Given the description of an element on the screen output the (x, y) to click on. 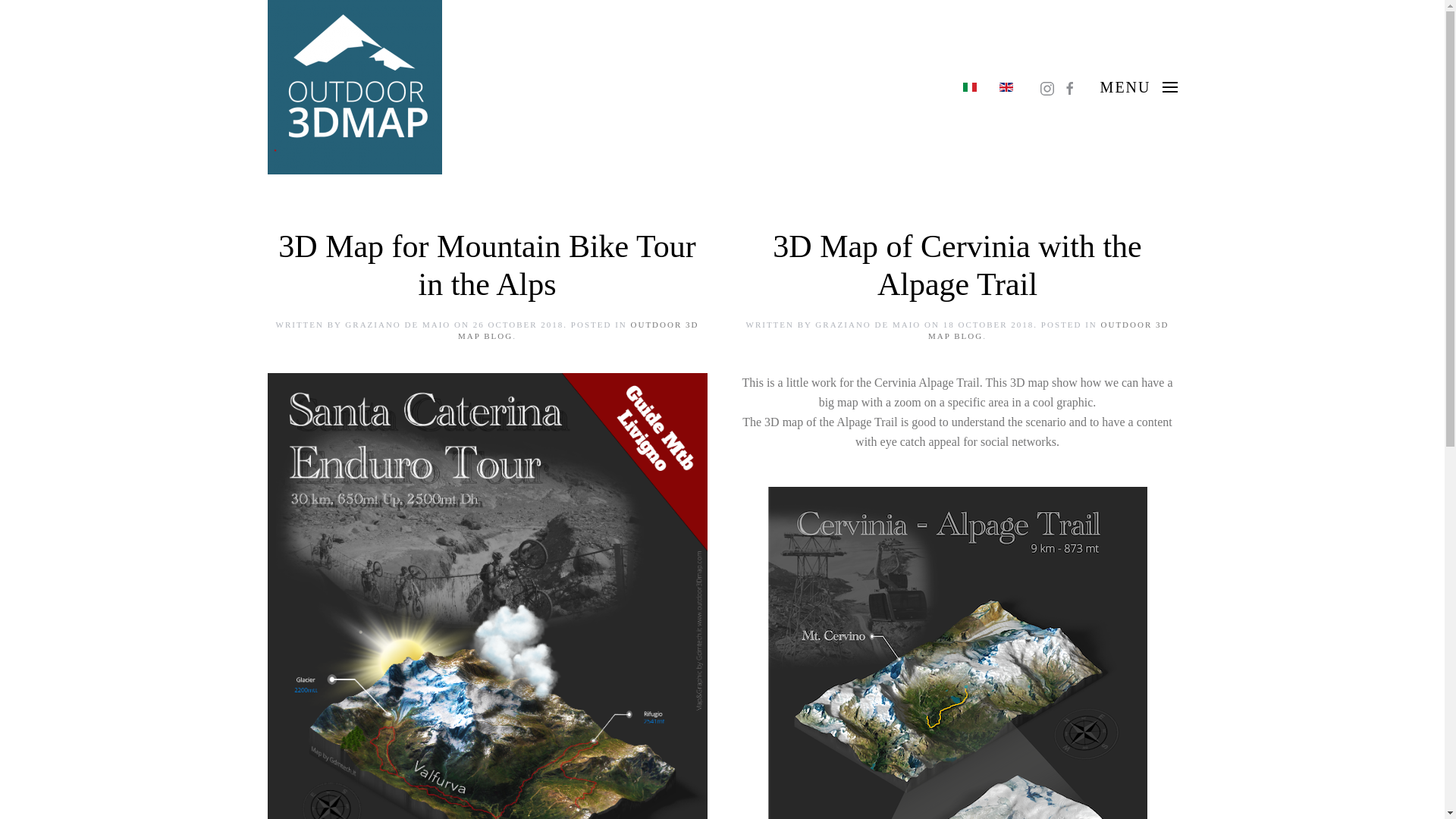
OUTDOOR 3D MAP BLOG (1048, 330)
Italiano (969, 86)
3D Map for Mountain Bike Tour in the Alps (486, 265)
MENU (1139, 87)
OUTDOOR 3D MAP BLOG (578, 330)
3D Map of Cervinia with the Alpage Trail (957, 265)
